Given the description of an element on the screen output the (x, y) to click on. 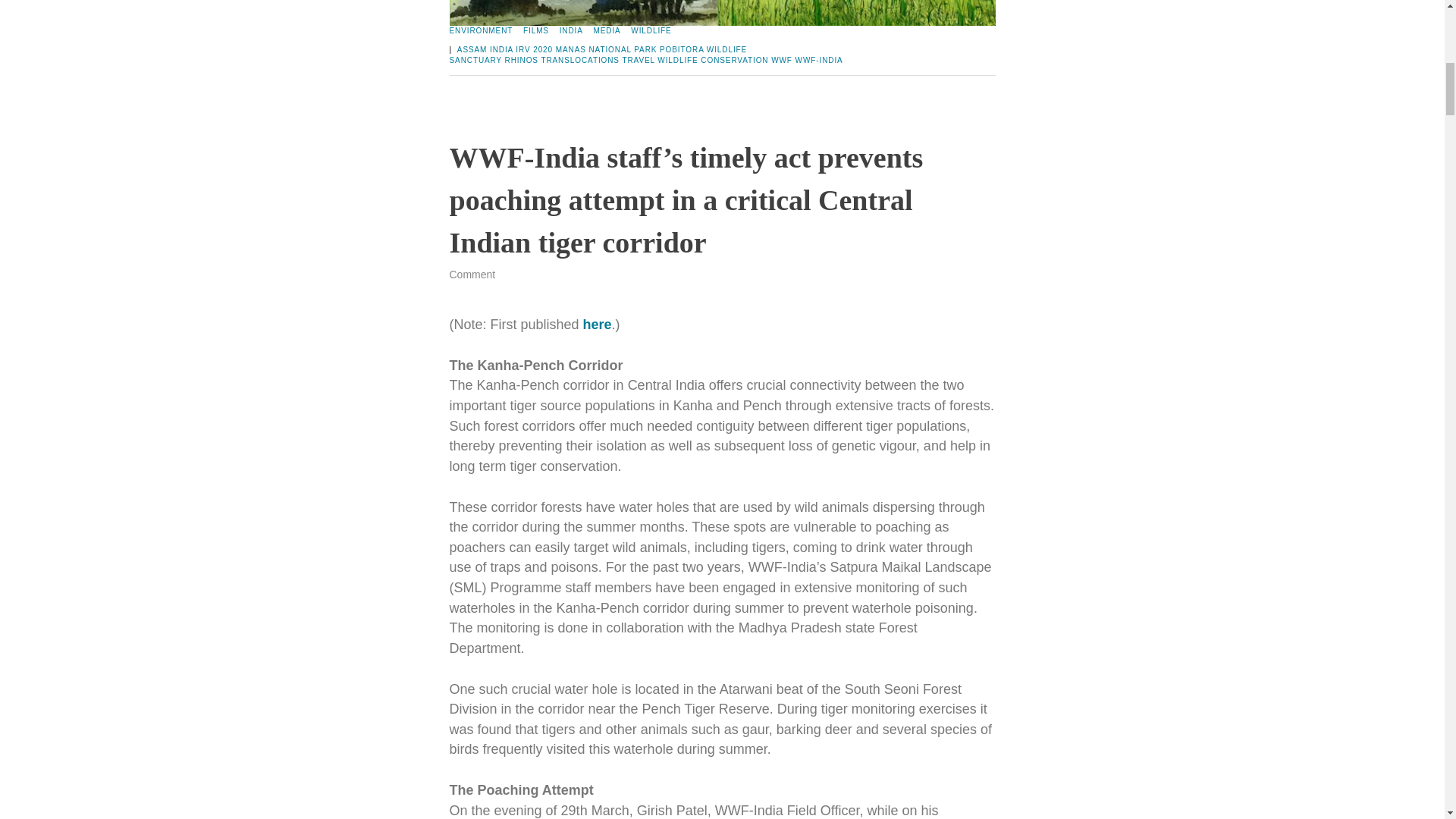
ENVIRONMENT (480, 30)
INDIA (571, 30)
TRANSLOCATIONS (580, 60)
MANAS NATIONAL PARK (607, 49)
IRV 2020 (534, 49)
FILMS (535, 30)
RHINOS (521, 60)
ASSAM (472, 49)
here (597, 324)
WWF (781, 60)
POBITORA WILDLIFE SANCTUARY (597, 55)
TRAVEL (637, 60)
INDIA (501, 49)
WWF-INDIA (818, 60)
MEDIA (606, 30)
